Given the description of an element on the screen output the (x, y) to click on. 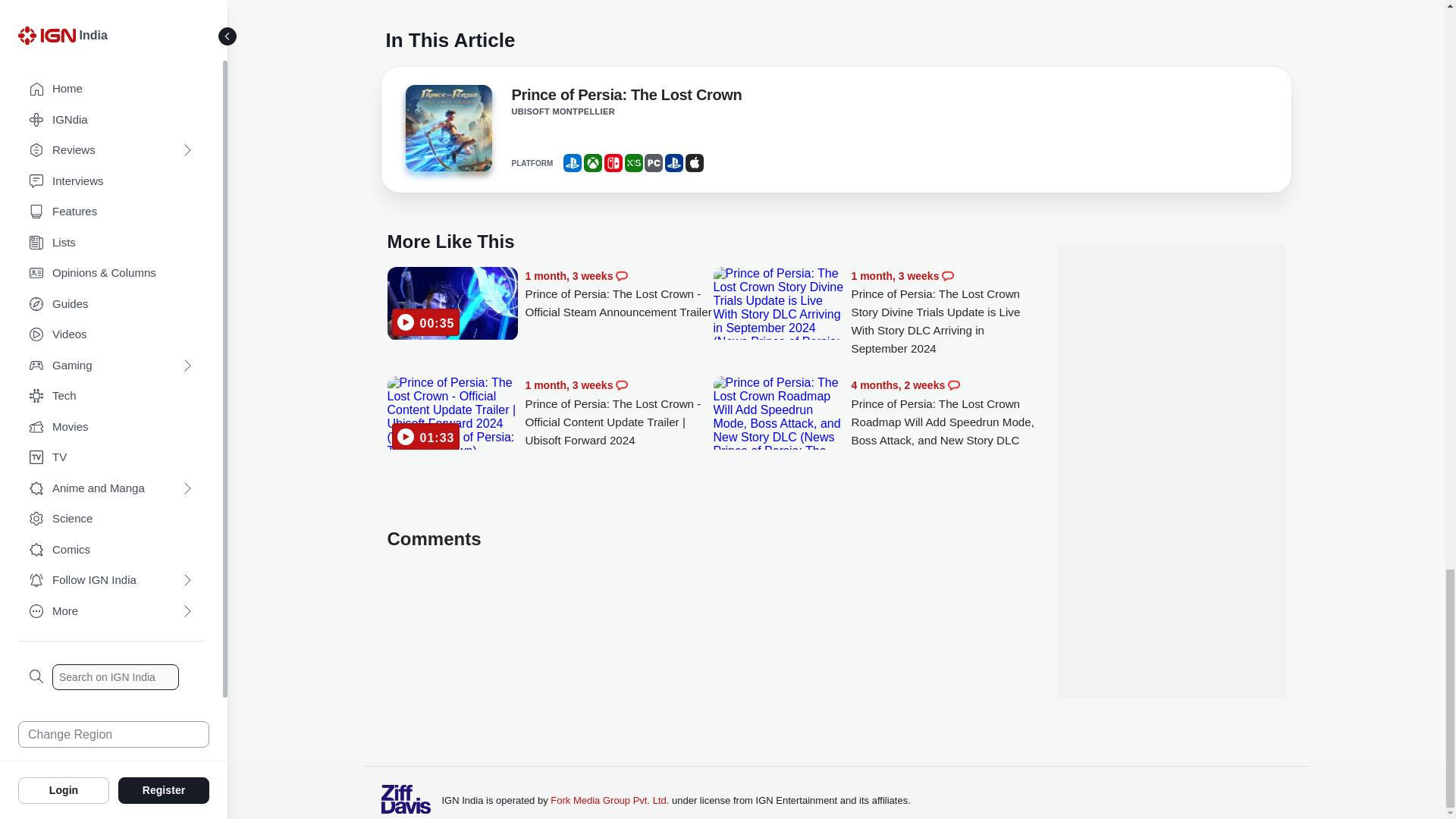
Prince of Persia: The Lost Crown (626, 97)
Prince of Persia: The Lost Crown (448, 128)
Prince of Persia: The Lost Crown (448, 132)
